Given the description of an element on the screen output the (x, y) to click on. 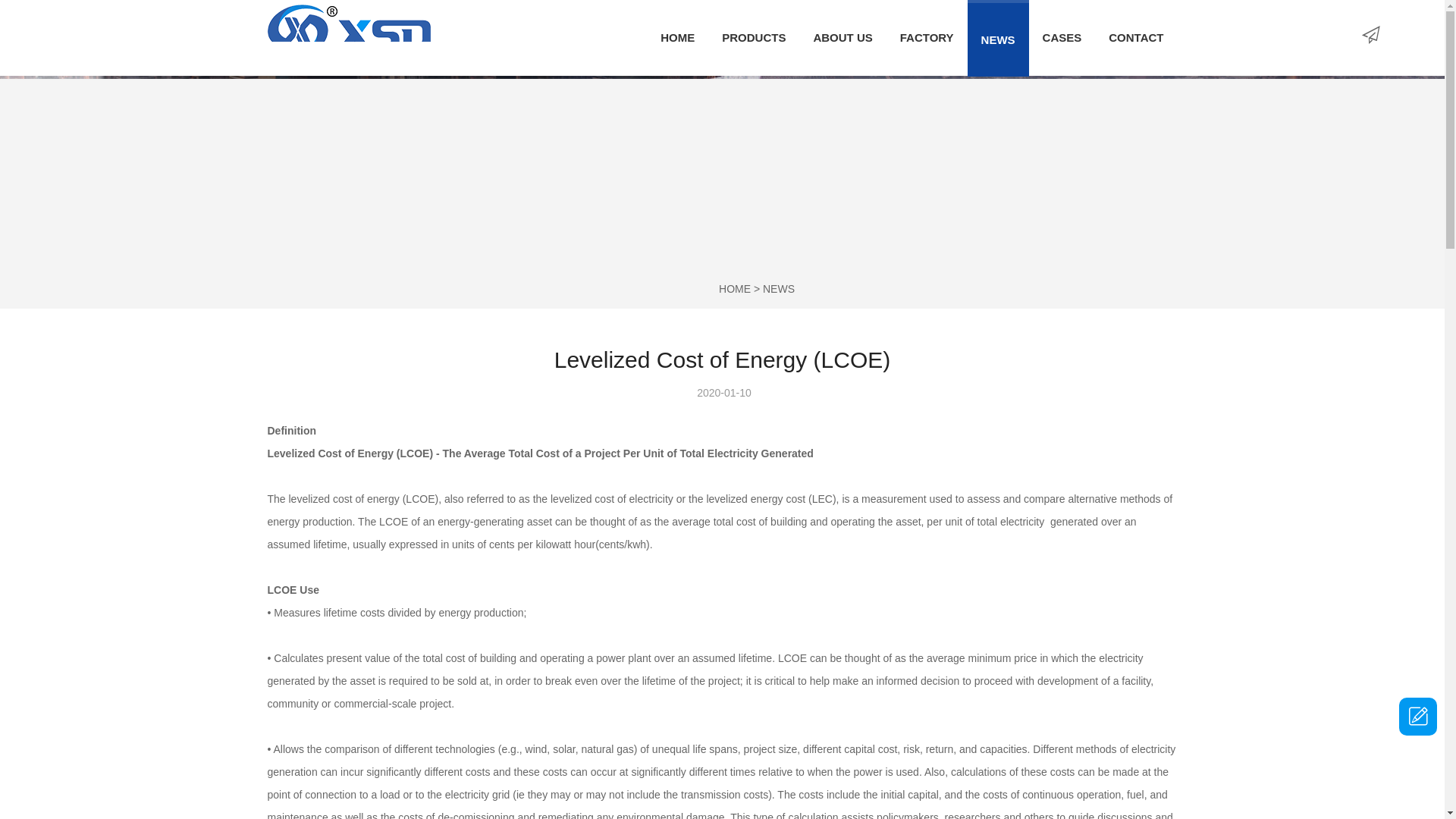
NEWS (778, 288)
ABOUT US (842, 38)
NEWS (998, 38)
HOME (676, 38)
CONTACT (1135, 38)
CASES (1062, 38)
FACTORY (927, 38)
HOME (735, 288)
PRODUCTS (753, 38)
